Given the description of an element on the screen output the (x, y) to click on. 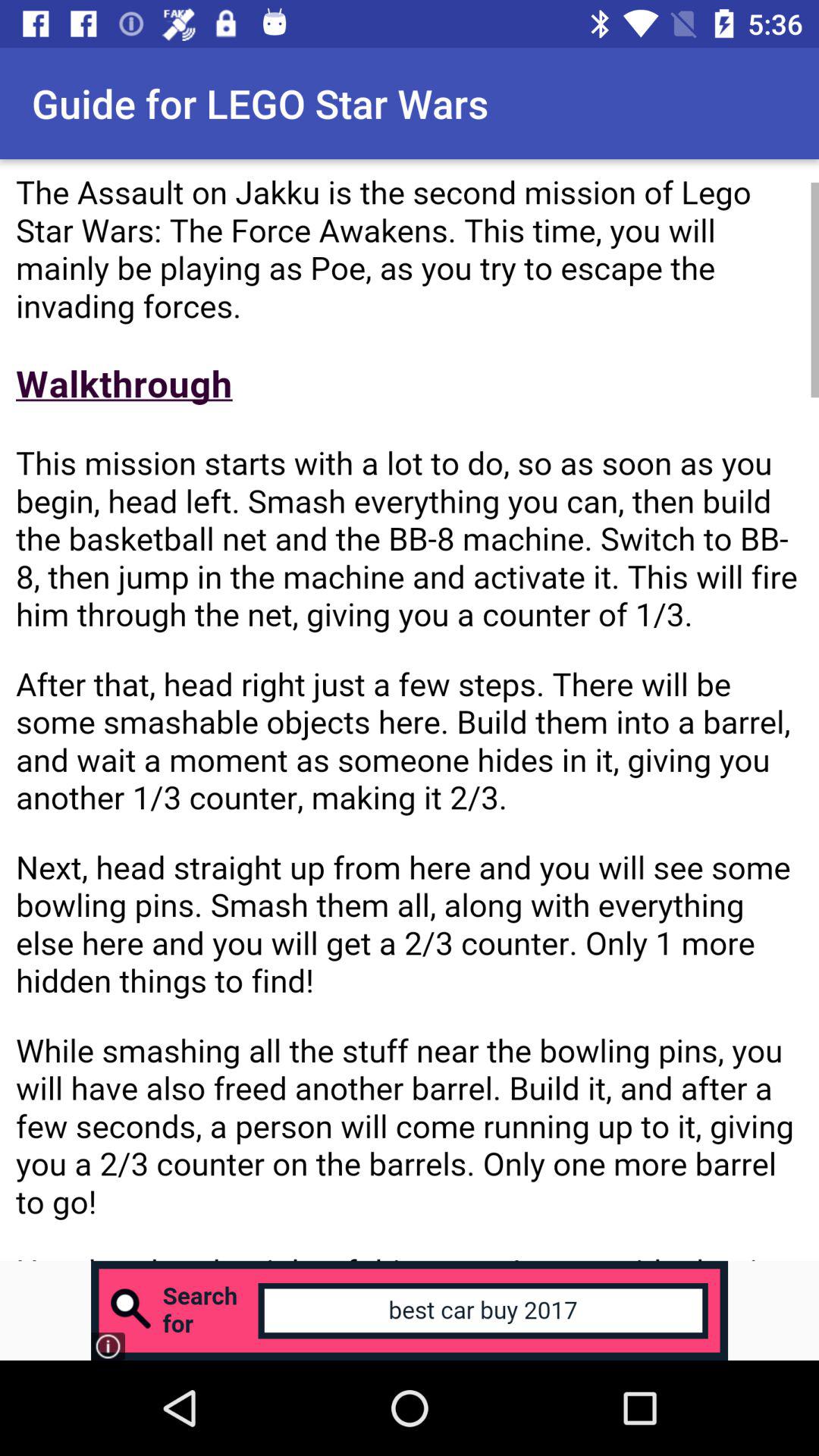
to search the best result about car buy (409, 1310)
